Given the description of an element on the screen output the (x, y) to click on. 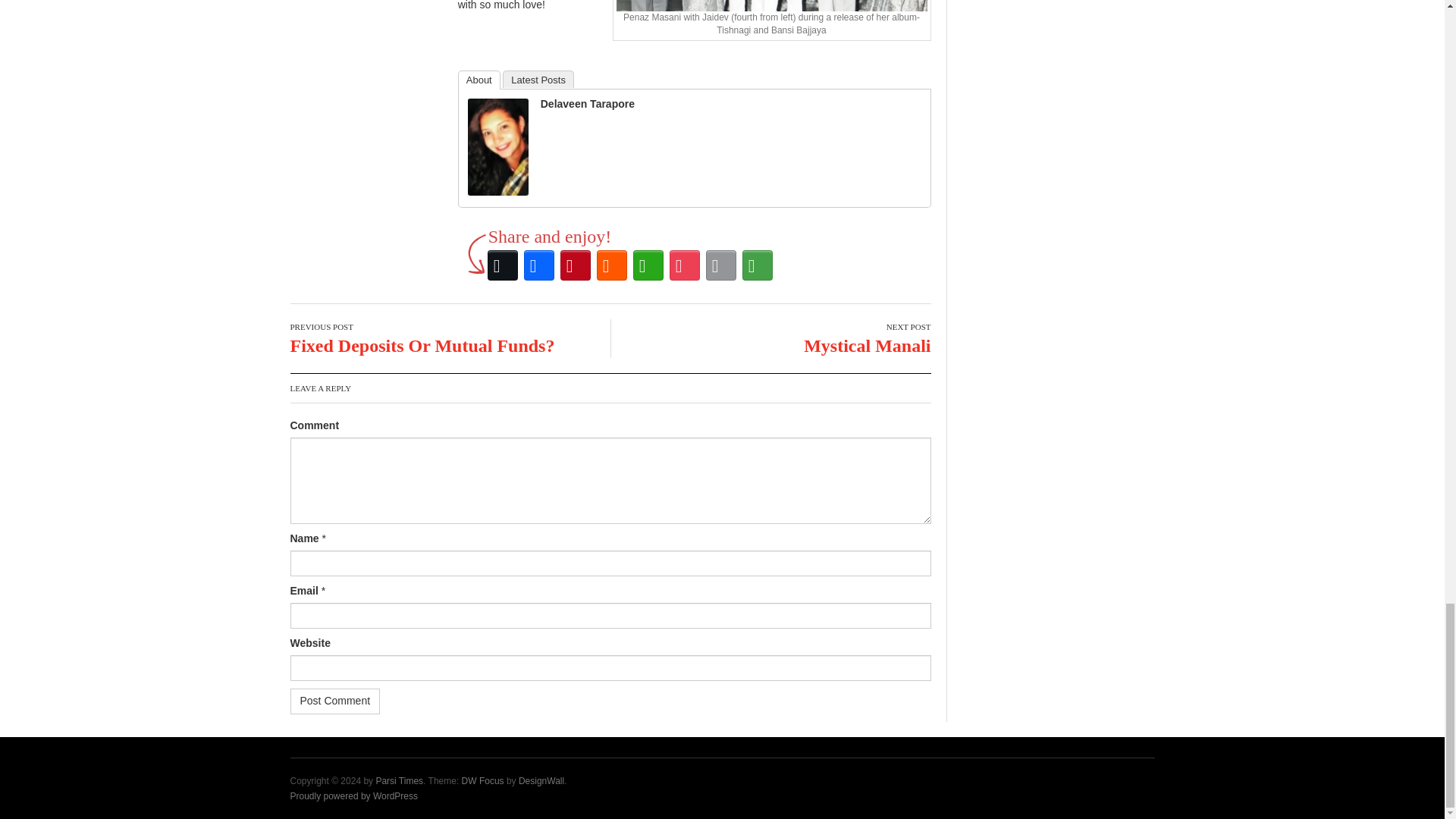
WhatsApp (648, 265)
More Options (757, 265)
Email This (721, 265)
Pocket (684, 265)
Facebook (539, 265)
Post Comment (334, 701)
WordPress News Theme (482, 780)
Delaveen Tarapore (497, 146)
Reddit (612, 265)
Pinterest (575, 265)
